Given the description of an element on the screen output the (x, y) to click on. 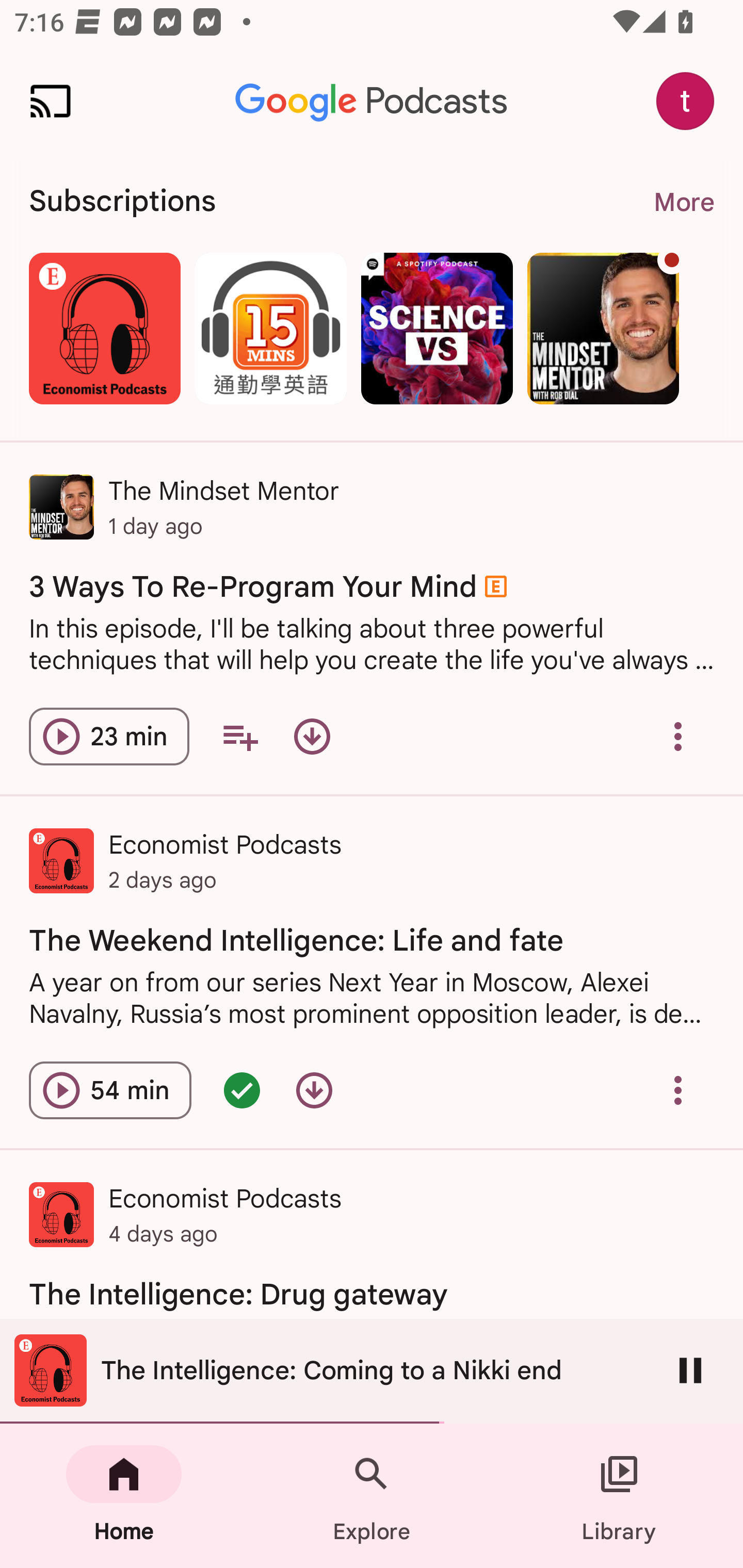
Cast. Disconnected (50, 101)
More More. Navigate to subscriptions page. (683, 202)
Economist Podcasts (104, 328)
通勤學英語 15Mins Today (270, 328)
Science Vs (436, 328)
The Mindset Mentor (603, 328)
Play episode 3 Ways To Re-Program Your Mind 23 min (108, 736)
Add to your queue (239, 736)
Download episode (312, 736)
Overflow menu (677, 736)
Episode queued - double tap for options (241, 1090)
Download episode (313, 1090)
Overflow menu (677, 1090)
Pause (690, 1370)
Explore (371, 1495)
Library (619, 1495)
